Given the description of an element on the screen output the (x, y) to click on. 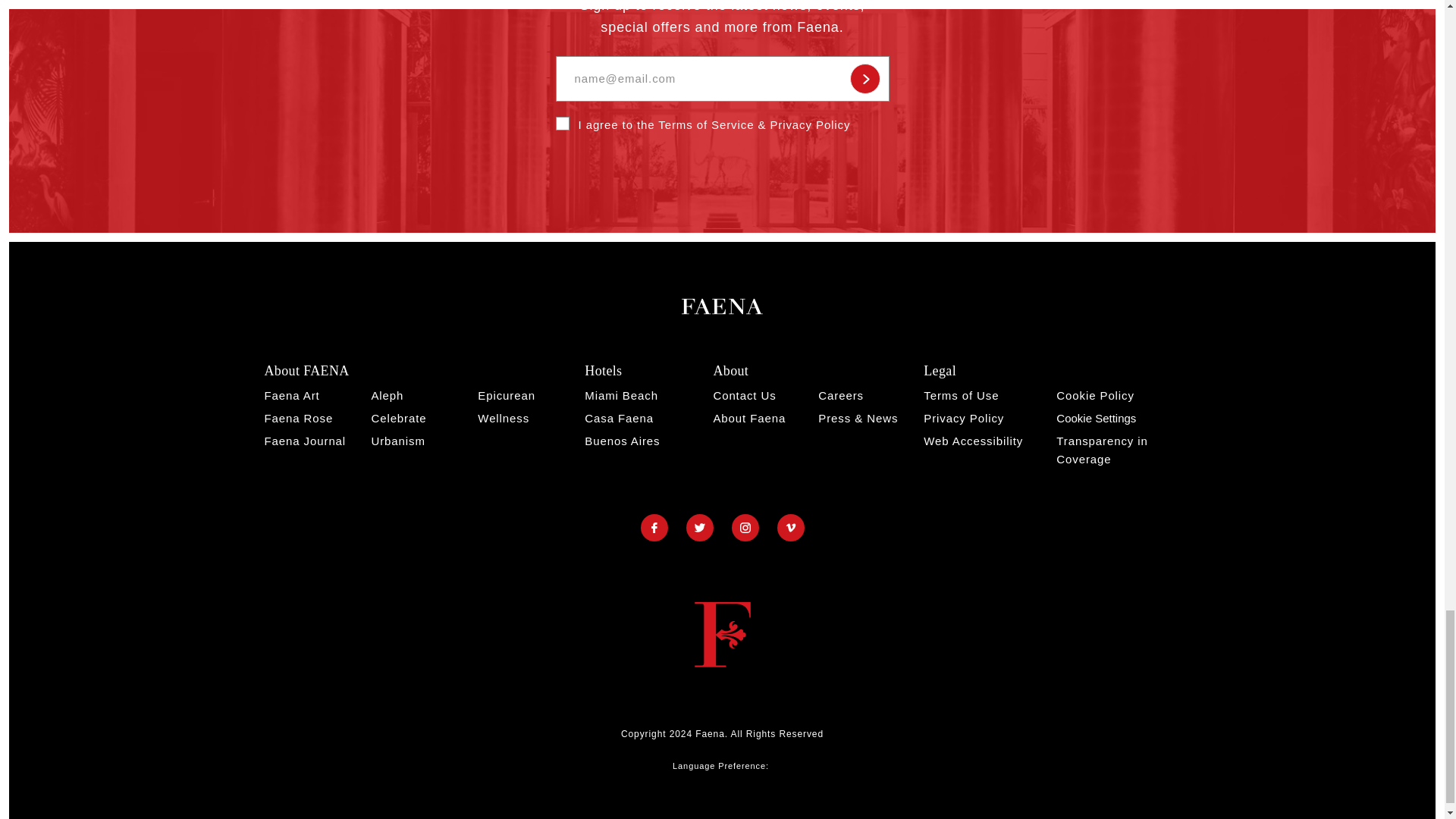
1 (561, 123)
Submit (863, 78)
